Given the description of an element on the screen output the (x, y) to click on. 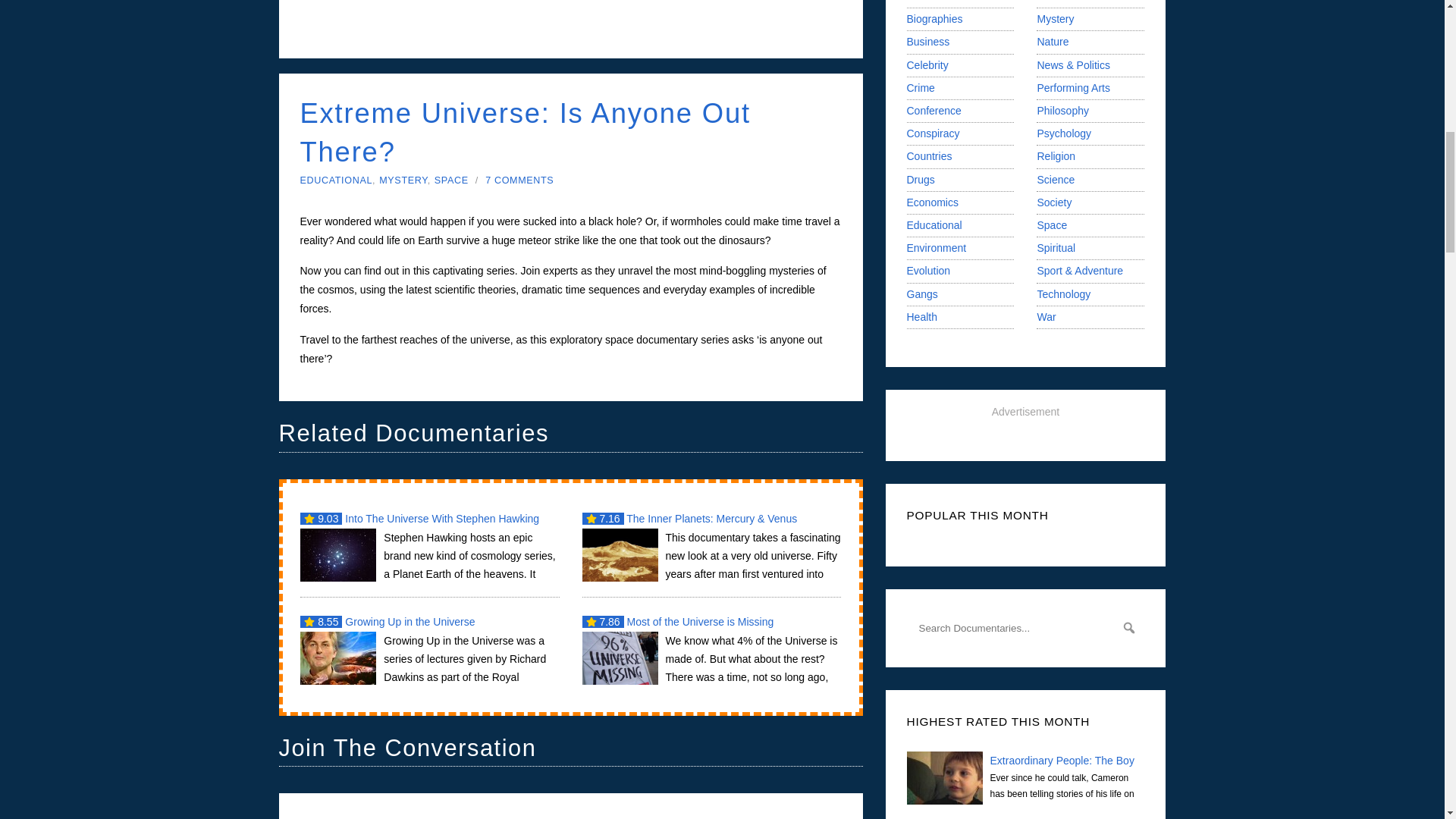
SPACE (450, 180)
7 COMMENTS (518, 180)
Advertisement (569, 23)
MYSTERY (402, 180)
Into The Universe With Stephen Hawking (429, 545)
EDUCATIONAL (335, 180)
